Given the description of an element on the screen output the (x, y) to click on. 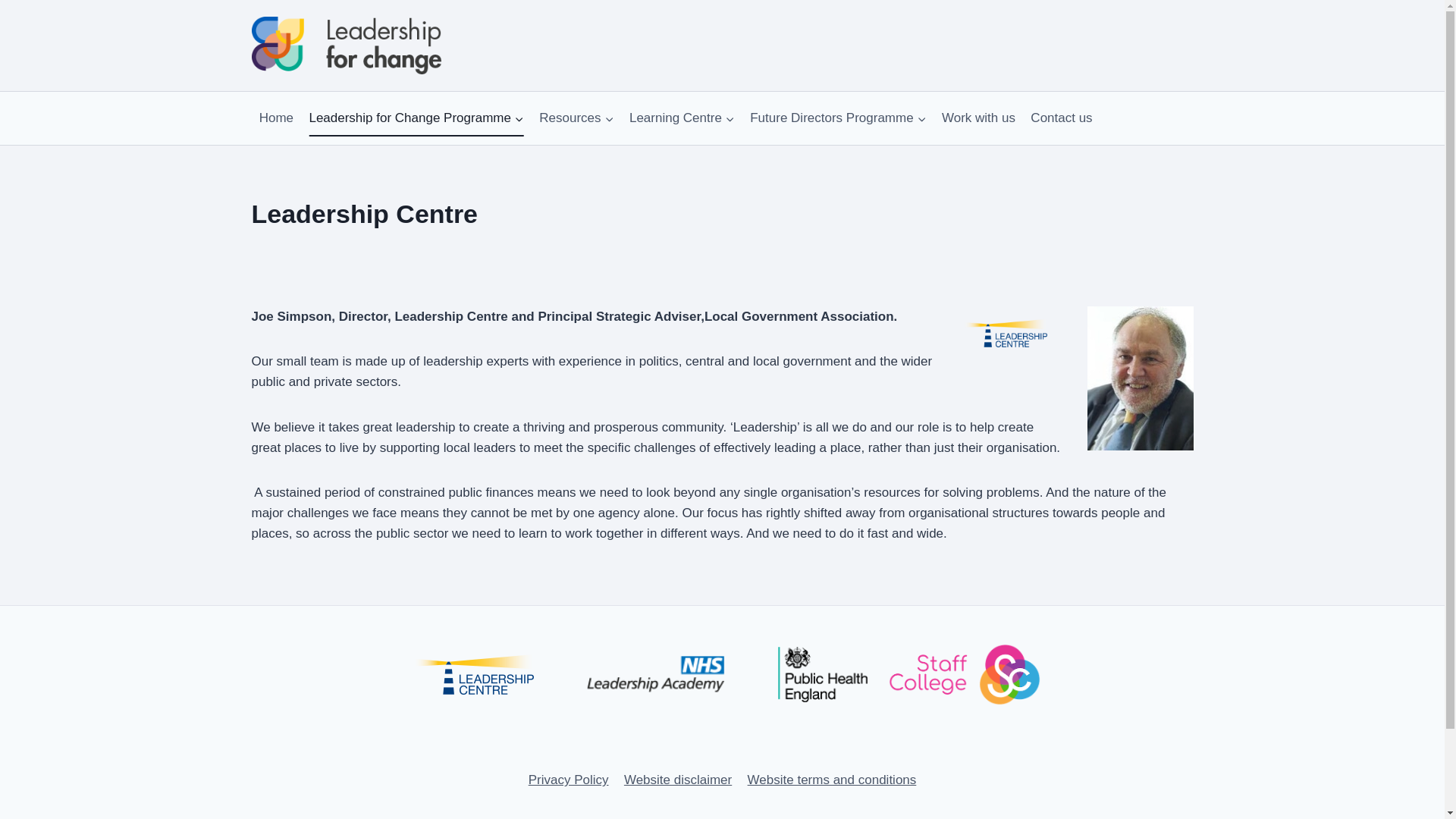
Leadership for Change Programme (416, 117)
Learning Centre (681, 117)
Future Directors Programme (838, 117)
Home (276, 117)
Resources (576, 117)
